Given the description of an element on the screen output the (x, y) to click on. 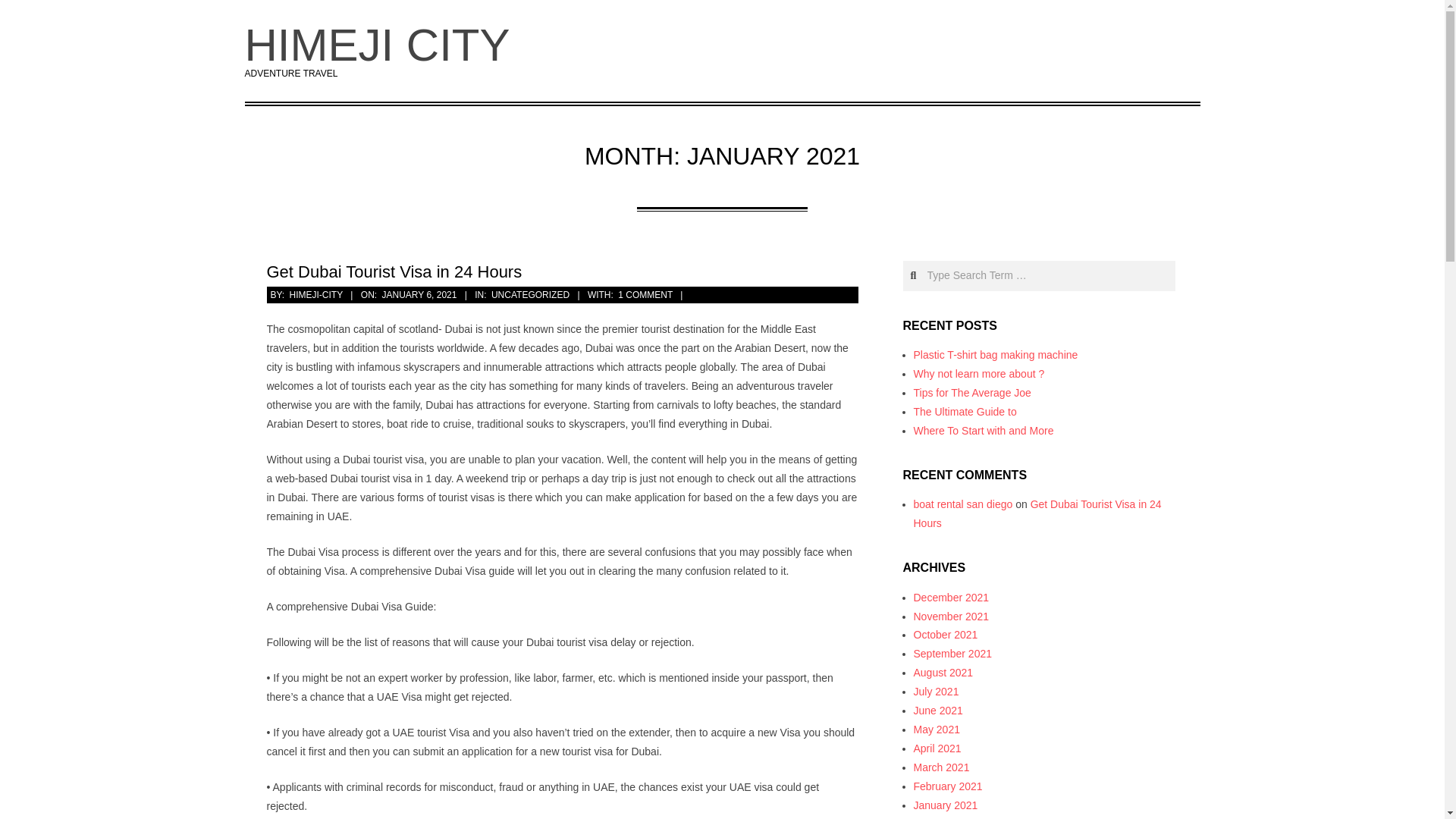
Where To Start with and More (982, 430)
February 2021 (946, 786)
Get Dubai Tourist Visa in 24 Hours (1036, 513)
March 2021 (940, 767)
May 2021 (935, 729)
HIMEJI-CITY (315, 294)
October 2021 (944, 634)
Get Dubai Tourist Visa in 24 Hours (394, 271)
HIMEJI CITY (376, 44)
Wednesday, January 6, 2021, 11:57 am (419, 294)
